Given the description of an element on the screen output the (x, y) to click on. 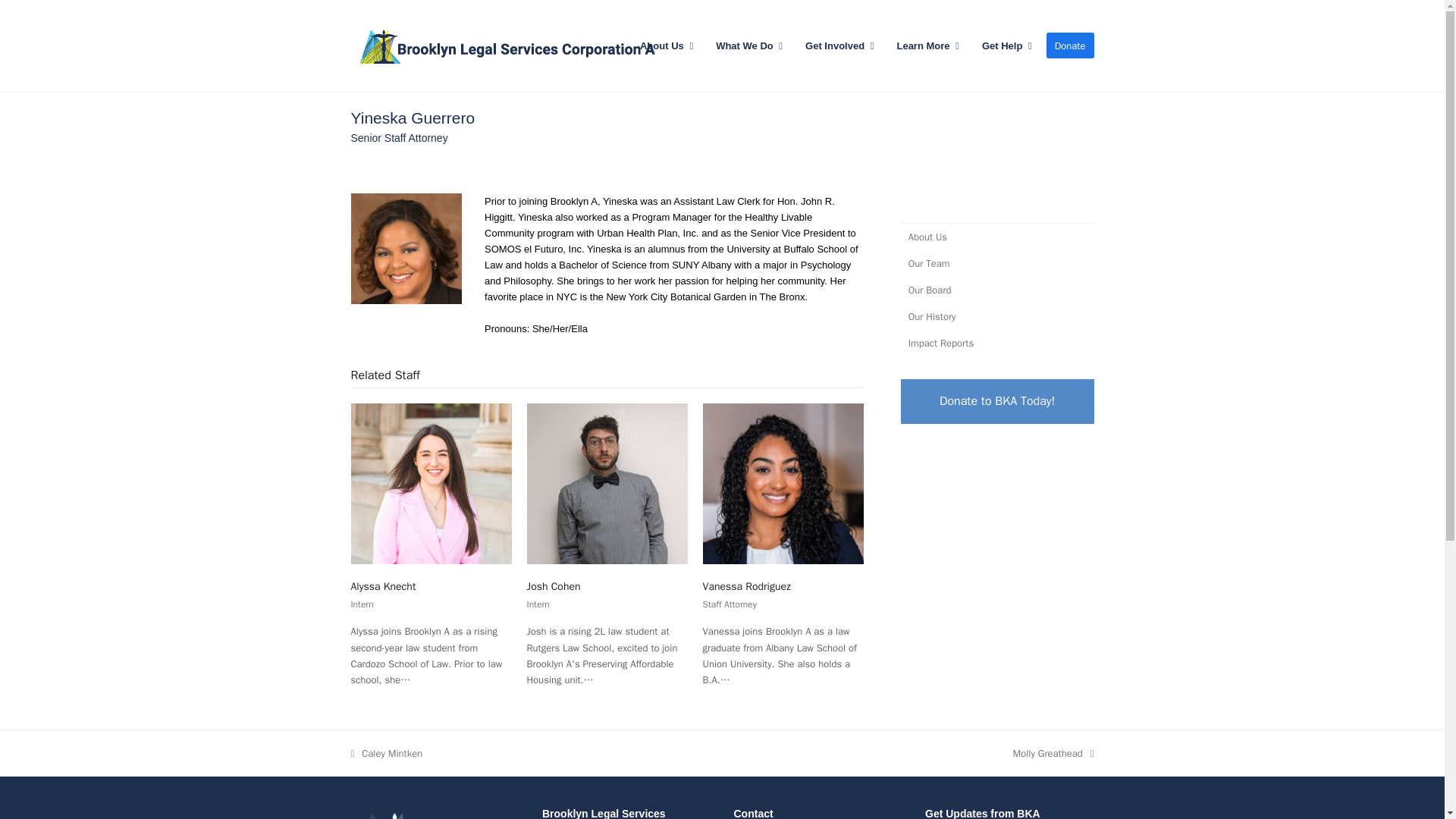
Alyssa Knecht (430, 481)
Donate (1070, 46)
What We Do (748, 46)
Learn More (927, 46)
Josh Cohen (607, 481)
Donate (997, 401)
About Us (666, 46)
Get Involved (839, 46)
Get Help (1007, 46)
Vanessa Rodriguez (783, 481)
staff (405, 248)
